Given the description of an element on the screen output the (x, y) to click on. 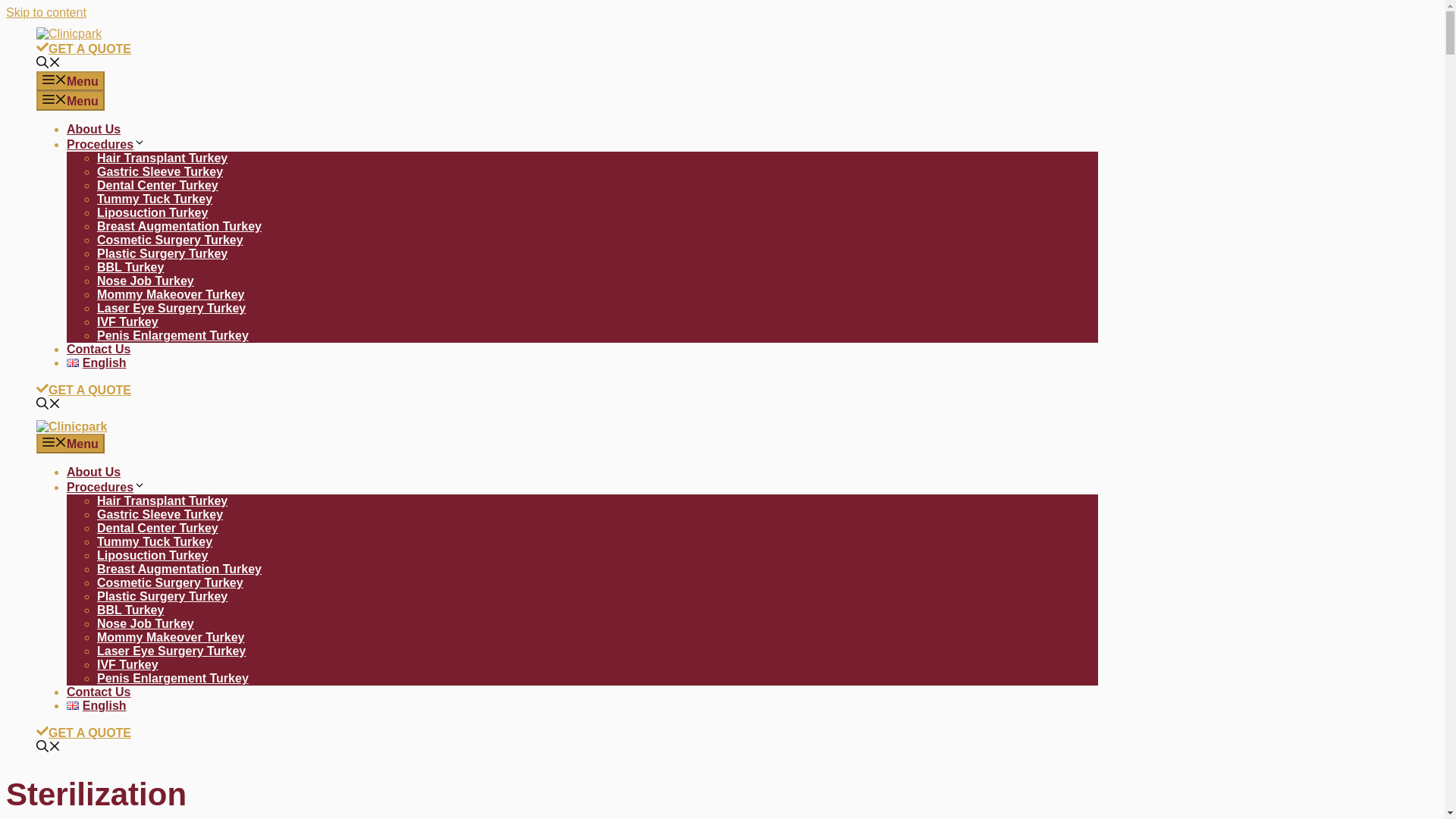
Skip to content (45, 11)
Dental Center Turkey (157, 527)
BBL Turkey (130, 267)
About Us (93, 128)
Contact Us (98, 349)
Hair Transplant Turkey (162, 500)
Plastic Surgery Turkey (162, 595)
Hair Transplant Turkey (162, 157)
Clinicpark (71, 426)
About Us (93, 472)
Breast Augmentation Turkey (179, 568)
Gastric Sleeve Turkey (159, 513)
Menu (70, 443)
English (96, 362)
BBL Turkey (130, 609)
